Given the description of an element on the screen output the (x, y) to click on. 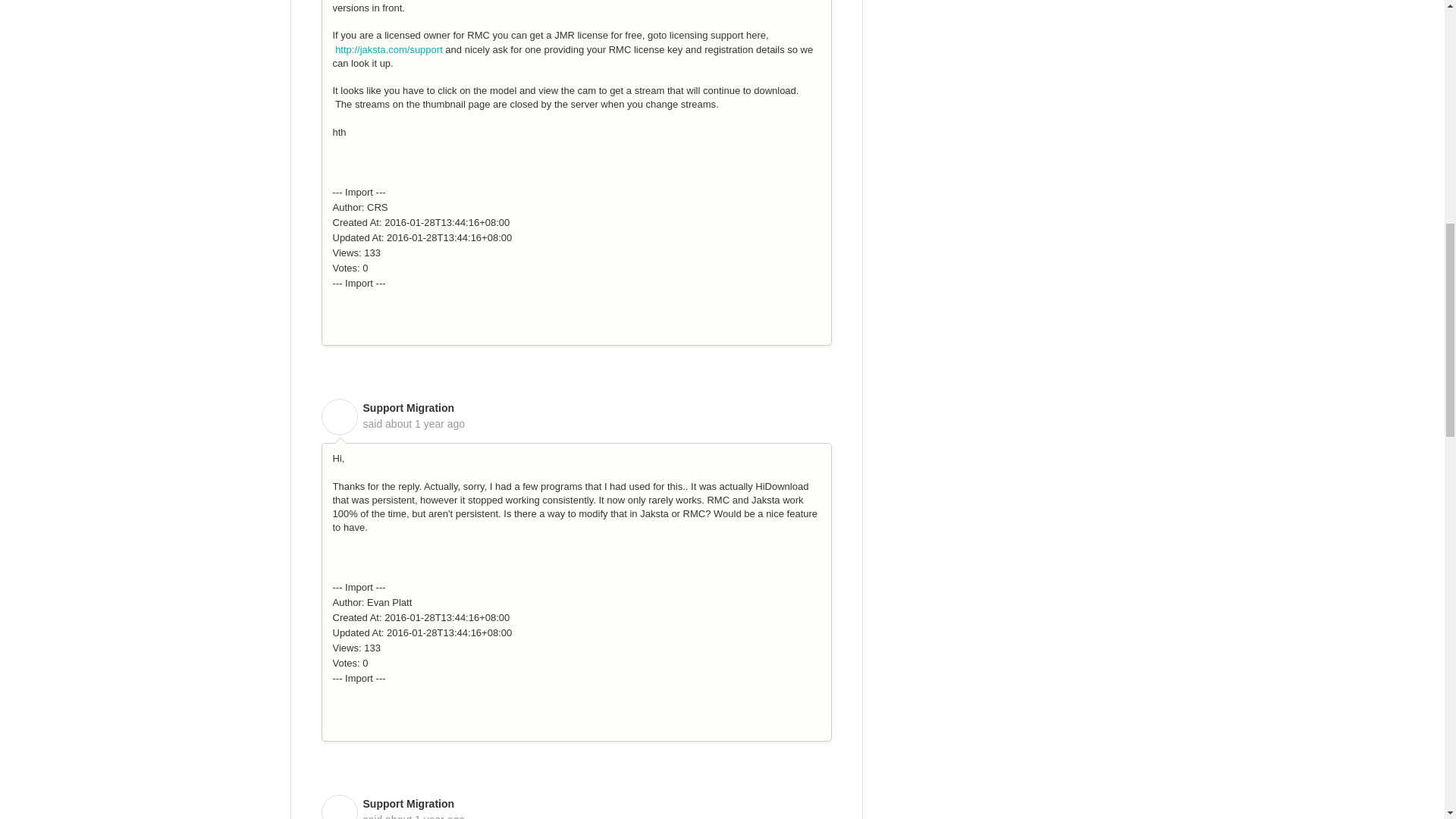
Mon, 8 May, 2023 at  1:19 AM (424, 423)
Mon, 8 May, 2023 at  1:19 AM (424, 816)
